Given the description of an element on the screen output the (x, y) to click on. 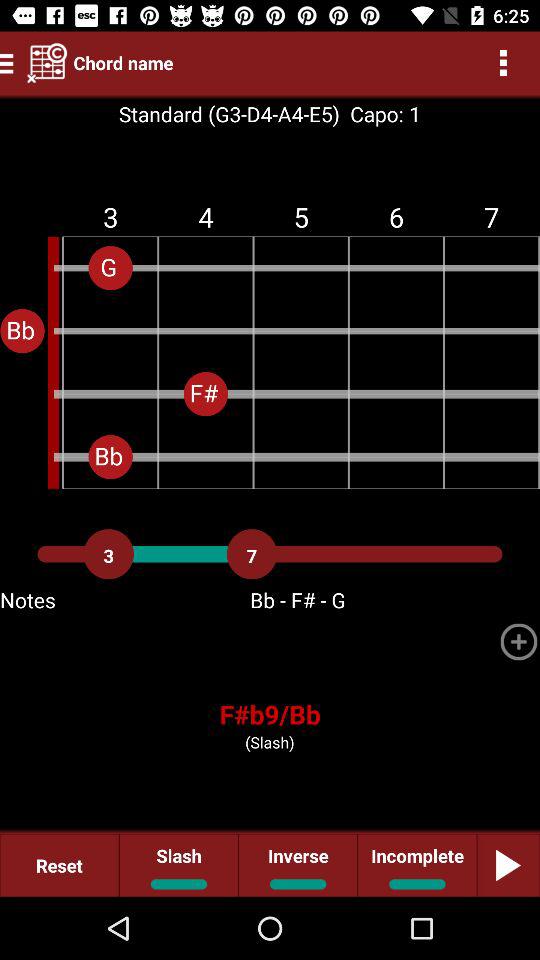
launch the item next to slash icon (297, 864)
